Given the description of an element on the screen output the (x, y) to click on. 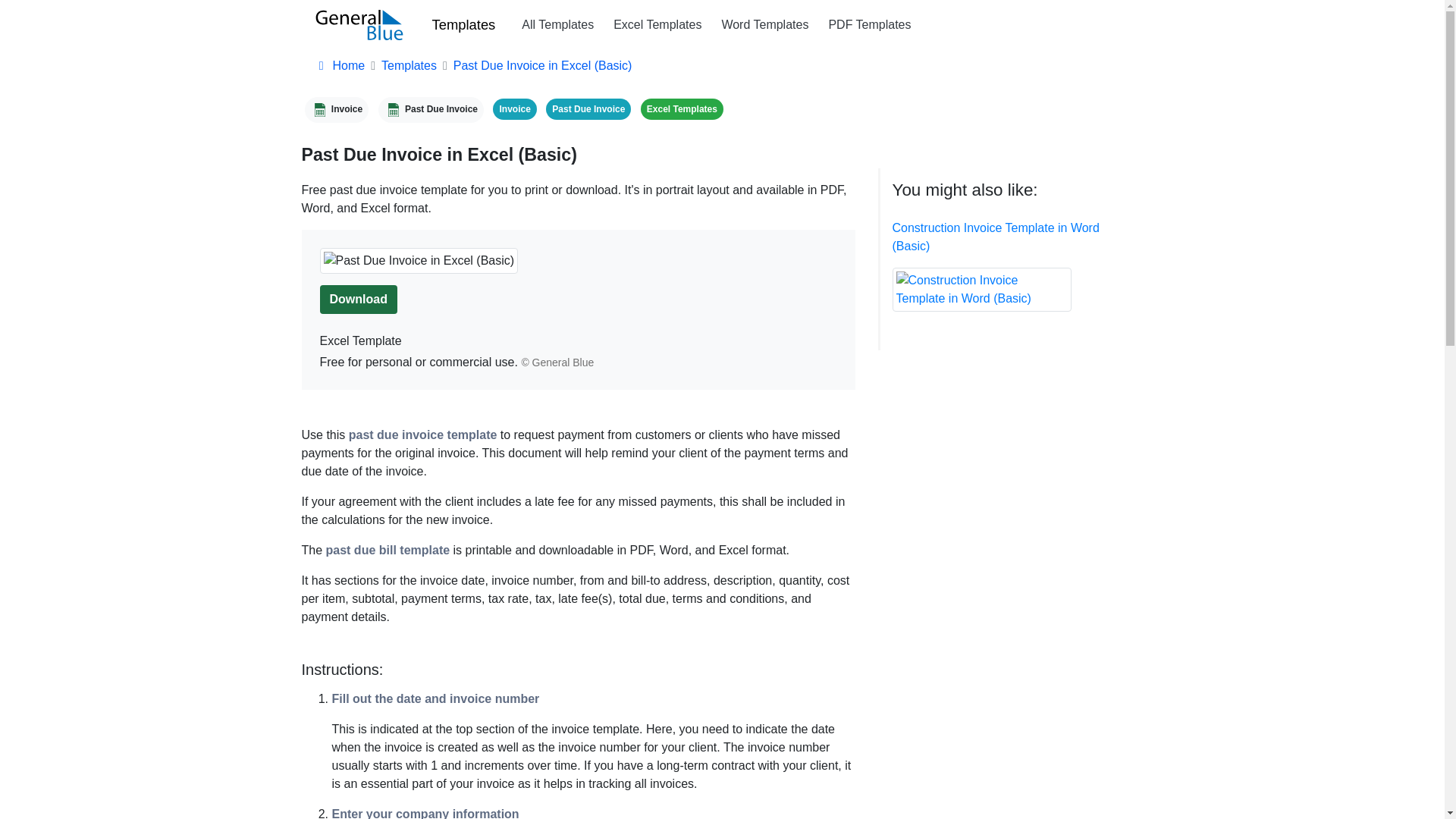
Terms and Conditions (557, 362)
Past Due Invoice (588, 107)
Past Due Invoice (430, 107)
See all Excel Templates (681, 107)
General Blue Corporation (359, 24)
Excel Templates (681, 107)
Home (339, 65)
See all Past Due Invoice Templates (588, 107)
Free Excel Templates and Spreadsheets (657, 24)
Templates (408, 65)
Word Templates (763, 24)
See all Invoice Templates (513, 107)
PDF Templates (869, 24)
All Templates (557, 24)
Download template in excel (358, 299)
